Given the description of an element on the screen output the (x, y) to click on. 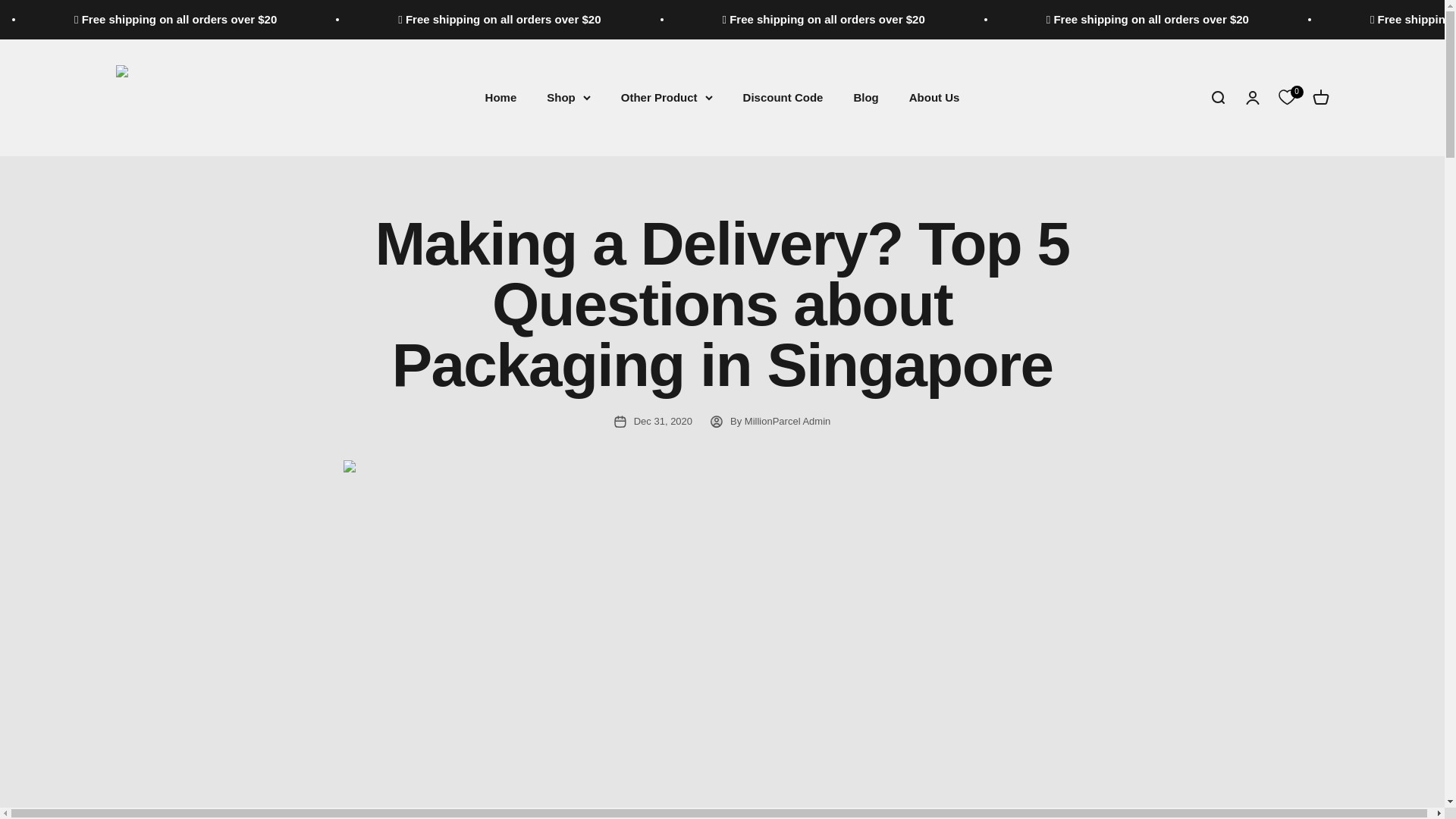
0 (1286, 97)
Open account page (1251, 97)
Home (500, 97)
About Us (933, 97)
MillionParcel (228, 97)
Open cart (1319, 97)
Open search (1216, 97)
Blog (865, 97)
Discount Code (783, 97)
